Given the description of an element on the screen output the (x, y) to click on. 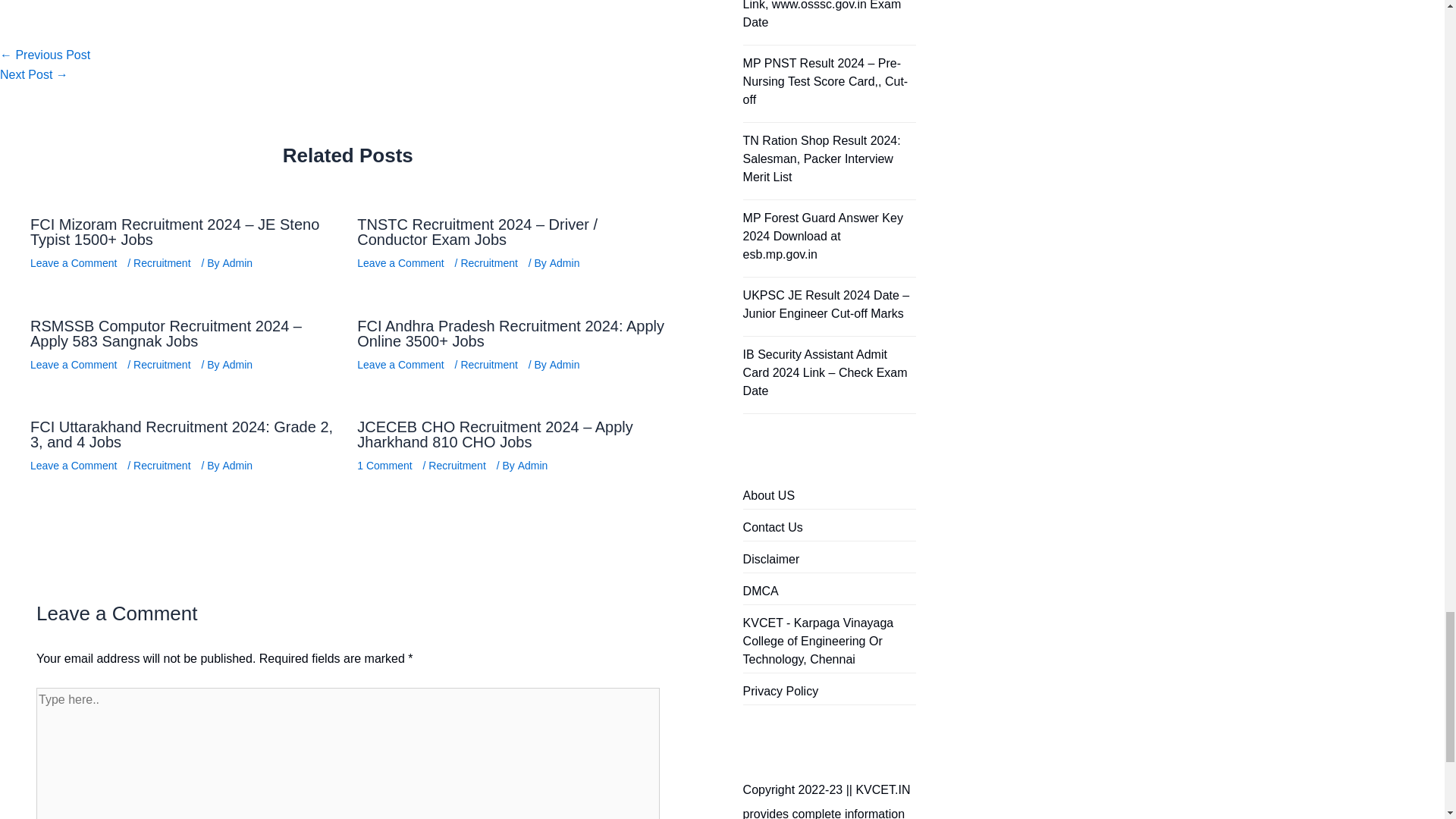
View all posts by Admin (566, 262)
TISS NET Result 2024 - TISSNET Cut off, Merit Rank List (34, 74)
View all posts by Admin (239, 262)
Leave a Comment (73, 262)
Recruitment (161, 262)
View all posts by Admin (239, 465)
View all posts by Admin (534, 465)
View all posts by Admin (566, 364)
View all posts by Admin (239, 364)
